Given the description of an element on the screen output the (x, y) to click on. 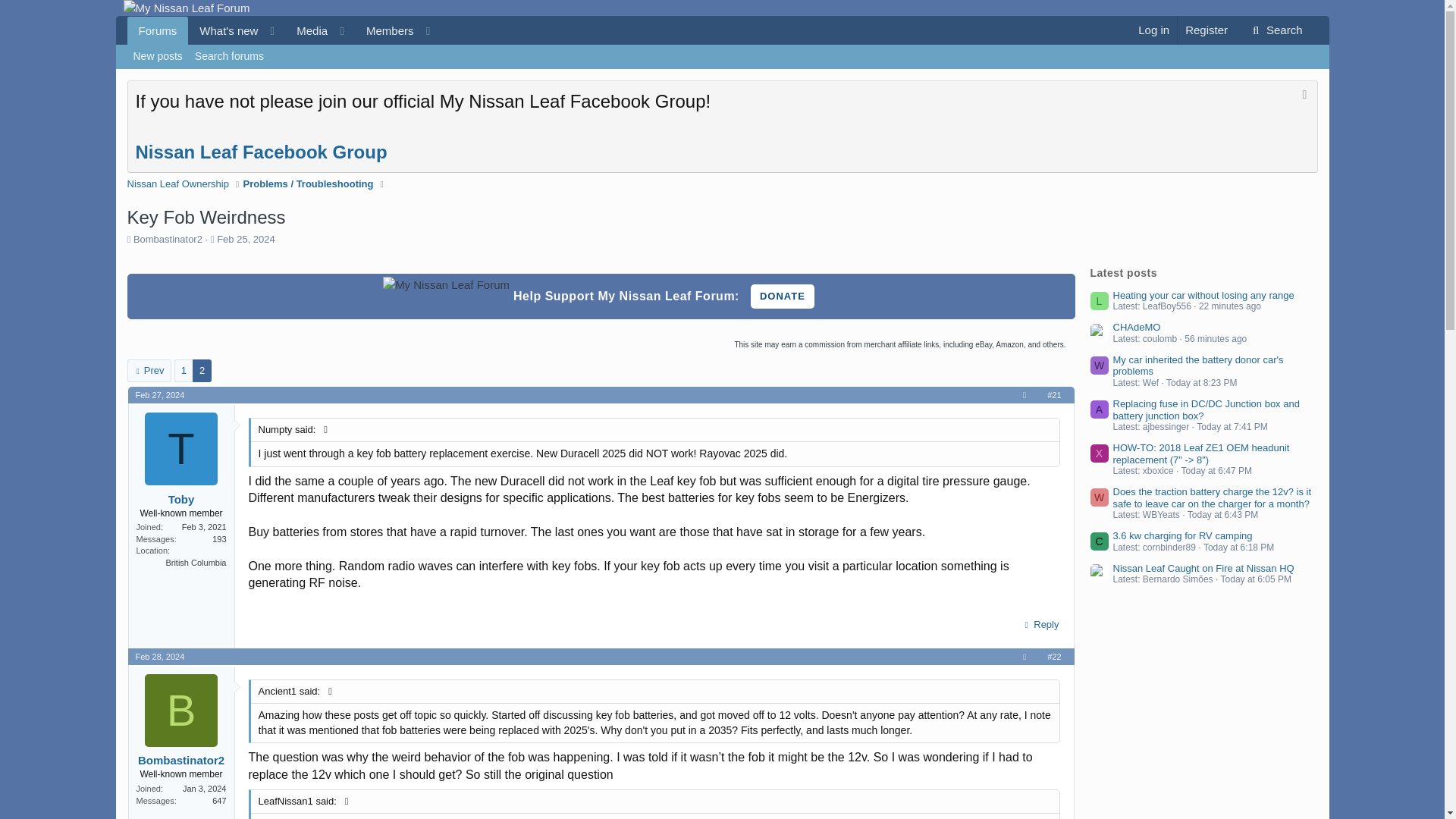
Forums (158, 30)
Register (1205, 29)
Search (1275, 30)
New posts (158, 56)
Reply, quoting this message (1039, 624)
Nissan Leaf Ownership (178, 183)
Nissan Leaf Facebook Group (261, 151)
Media (288, 30)
